Given the description of an element on the screen output the (x, y) to click on. 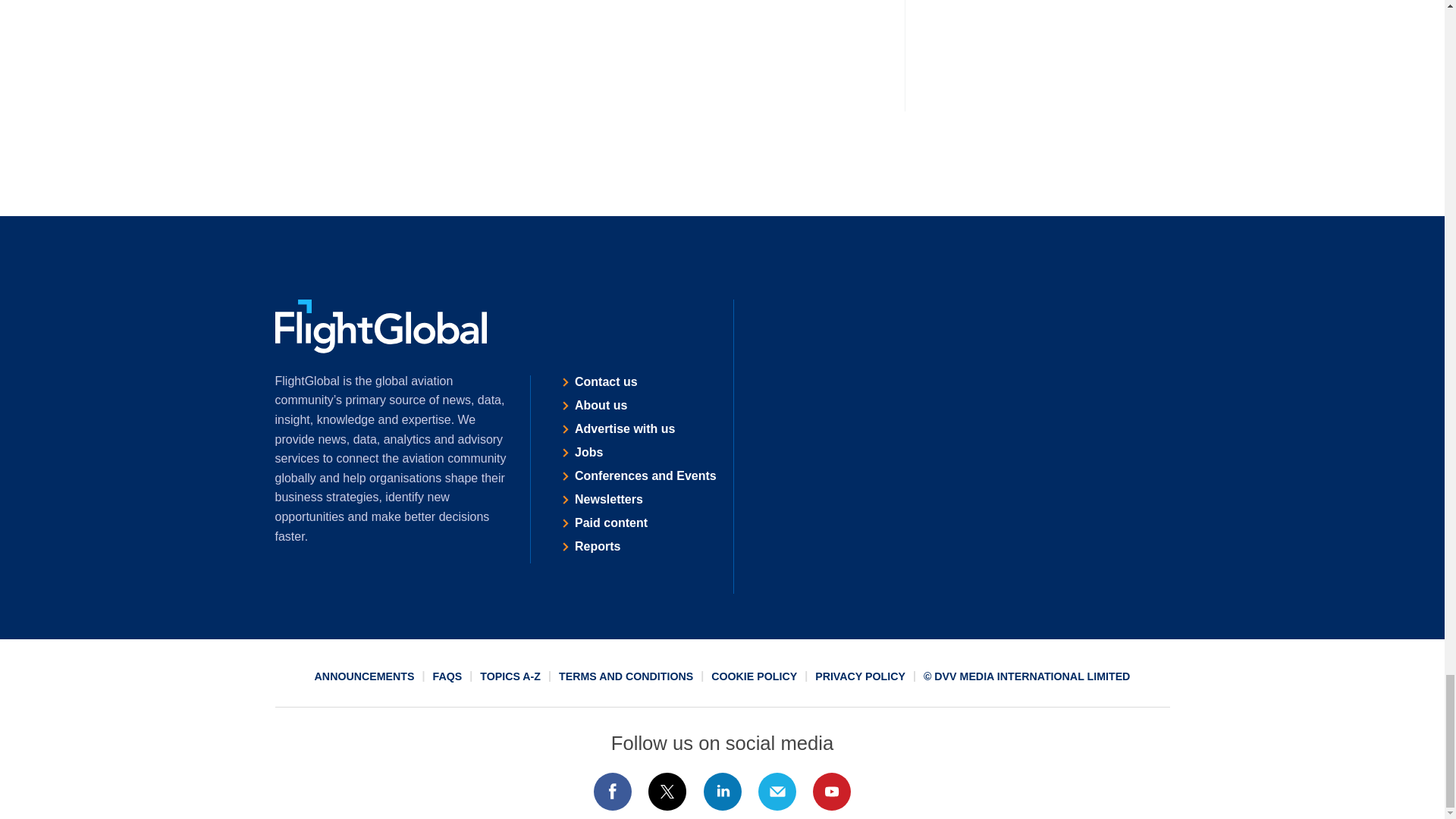
Email us (776, 791)
Connect with us on Linked In (721, 791)
Connect with us on Twitter (667, 791)
Connect with us on Youtube (831, 791)
Connect with us on Facebook (611, 791)
